Given the description of an element on the screen output the (x, y) to click on. 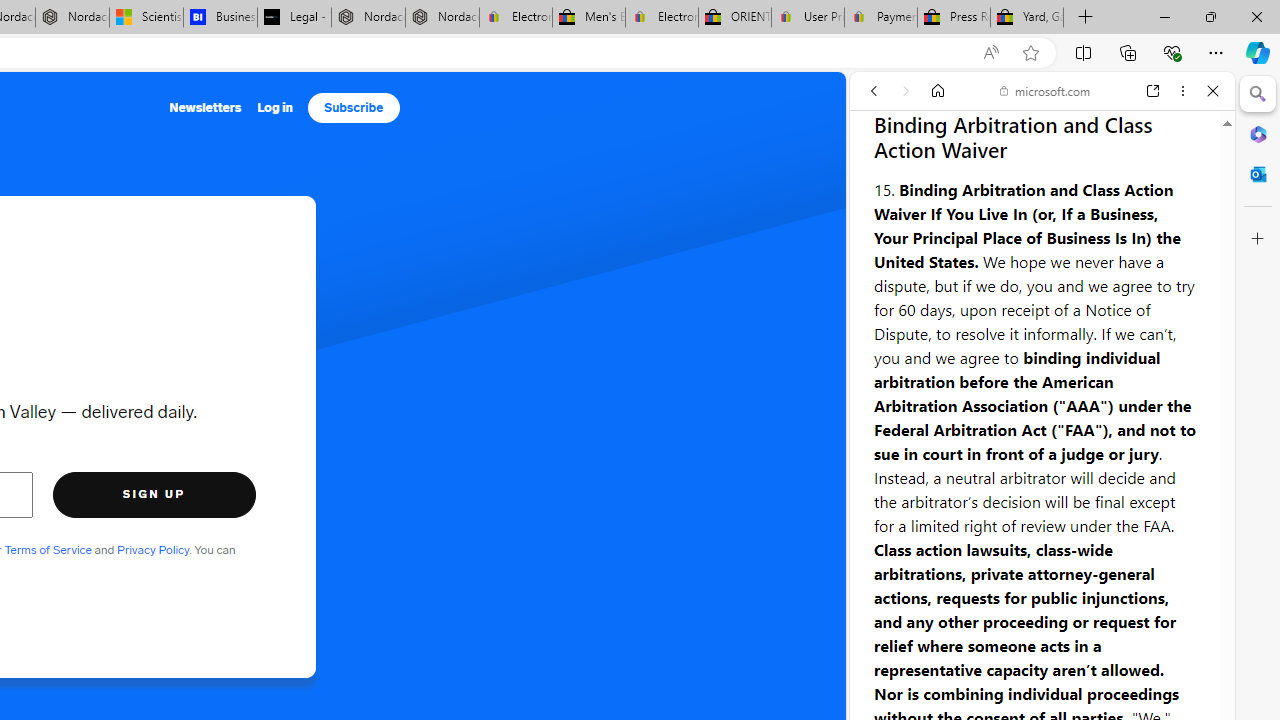
SIGN UP (154, 493)
Terms of Service (47, 549)
Minimize Search pane (1258, 94)
Subscribe (353, 107)
microsoft.com (1045, 90)
